Given the description of an element on the screen output the (x, y) to click on. 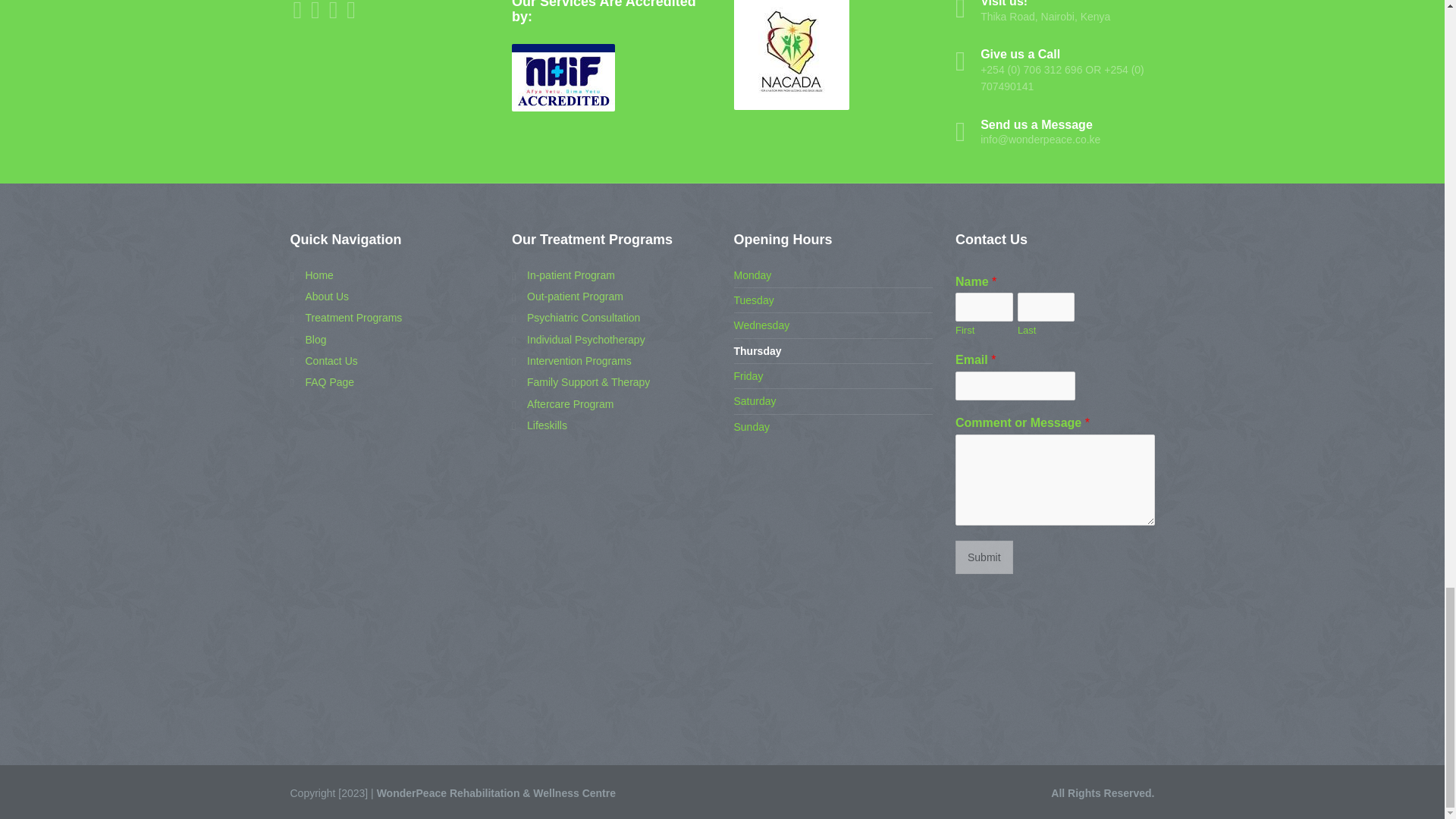
Facebook Page Plugin (389, 651)
Home (311, 274)
Our Services Are Accredited by (563, 77)
Treatment Programs (345, 317)
About Us (319, 296)
